Given the description of an element on the screen output the (x, y) to click on. 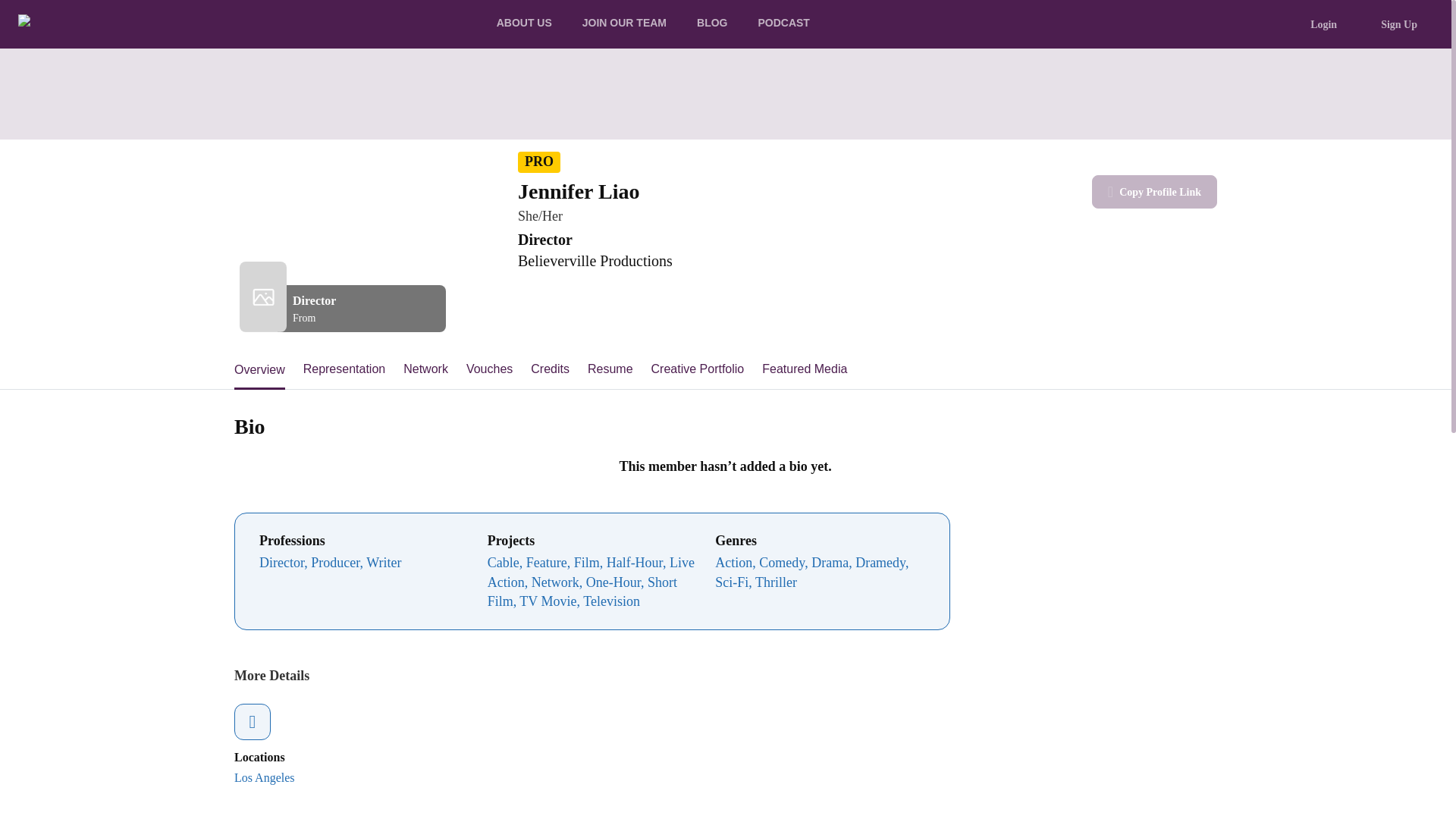
Overview (259, 369)
Resume (610, 369)
Representation (343, 369)
ABOUT US (524, 24)
Sign Up (1398, 23)
BLOG (711, 24)
Copy Profile Link (1154, 191)
Network (425, 369)
Creative Portfolio (697, 369)
Login (1323, 23)
Featured Media (804, 369)
Credits (550, 369)
Jennifer Liao, HUSSLUP (311, 87)
JOIN OUR TEAM (624, 24)
Vouches (488, 369)
